Given the description of an element on the screen output the (x, y) to click on. 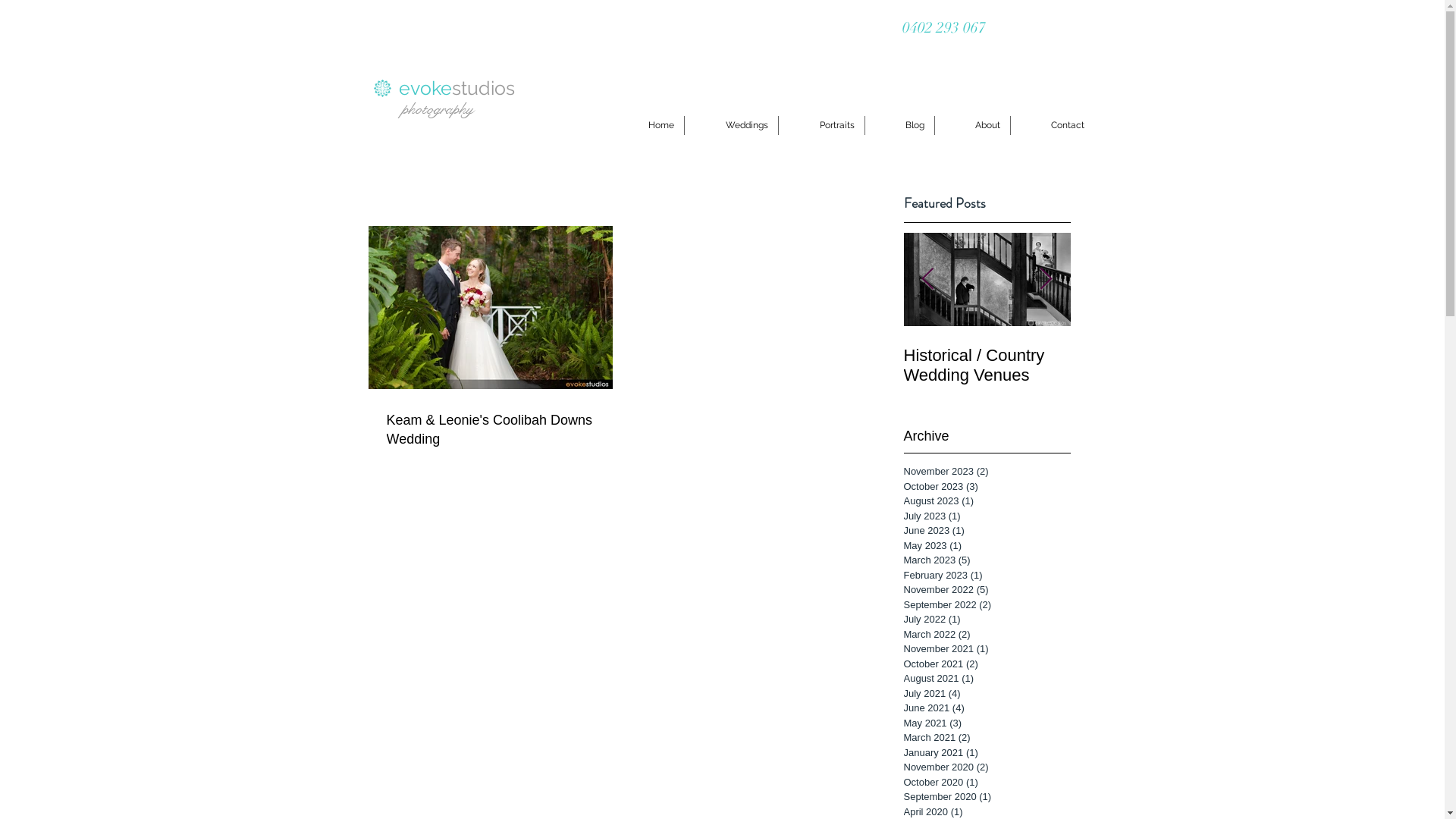
Home Element type: text (644, 125)
August 2023 (1) Element type: text (983, 500)
July 2021 (4) Element type: text (983, 693)
July 2023 (1) Element type: text (983, 516)
March 2021 (2) Element type: text (983, 737)
May 2021 (3) Element type: text (983, 723)
October 2020 (1) Element type: text (983, 782)
July 2022 (1) Element type: text (983, 619)
Social Media Icons Element type: hover (1044, 28)
Contact Element type: text (1051, 125)
March 2023 (5) Element type: text (983, 559)
October 2023 (3) Element type: text (983, 486)
Historical / Country Wedding Venues Element type: text (1153, 365)
Portraits Element type: text (820, 125)
October 2021 (2) Element type: text (983, 663)
August 2021 (1) Element type: text (983, 678)
Site Search Element type: hover (447, 201)
Blog Element type: text (898, 125)
September 2022 (2) Element type: text (983, 604)
Golf Club Wedding Inspiration Element type: text (1320, 365)
November 2023 (2) Element type: text (983, 471)
March 2022 (2) Element type: text (983, 634)
May 2023 (1) Element type: text (983, 545)
Weddings Element type: text (730, 125)
About Element type: text (971, 125)
Garden Wedding Inspiration Element type: text (820, 365)
November 2020 (2) Element type: text (983, 767)
September 2020 (1) Element type: text (983, 796)
November 2021 (1) Element type: text (983, 648)
February 2023 (1) Element type: text (983, 575)
June 2023 (1) Element type: text (983, 530)
November 2022 (5) Element type: text (983, 589)
Brisbane City Wedding Venues Element type: text (986, 365)
Keam & Leonie's Coolibah Downs Wedding Element type: text (490, 429)
January 2021 (1) Element type: text (983, 752)
June 2021 (4) Element type: text (983, 707)
